Given the description of an element on the screen output the (x, y) to click on. 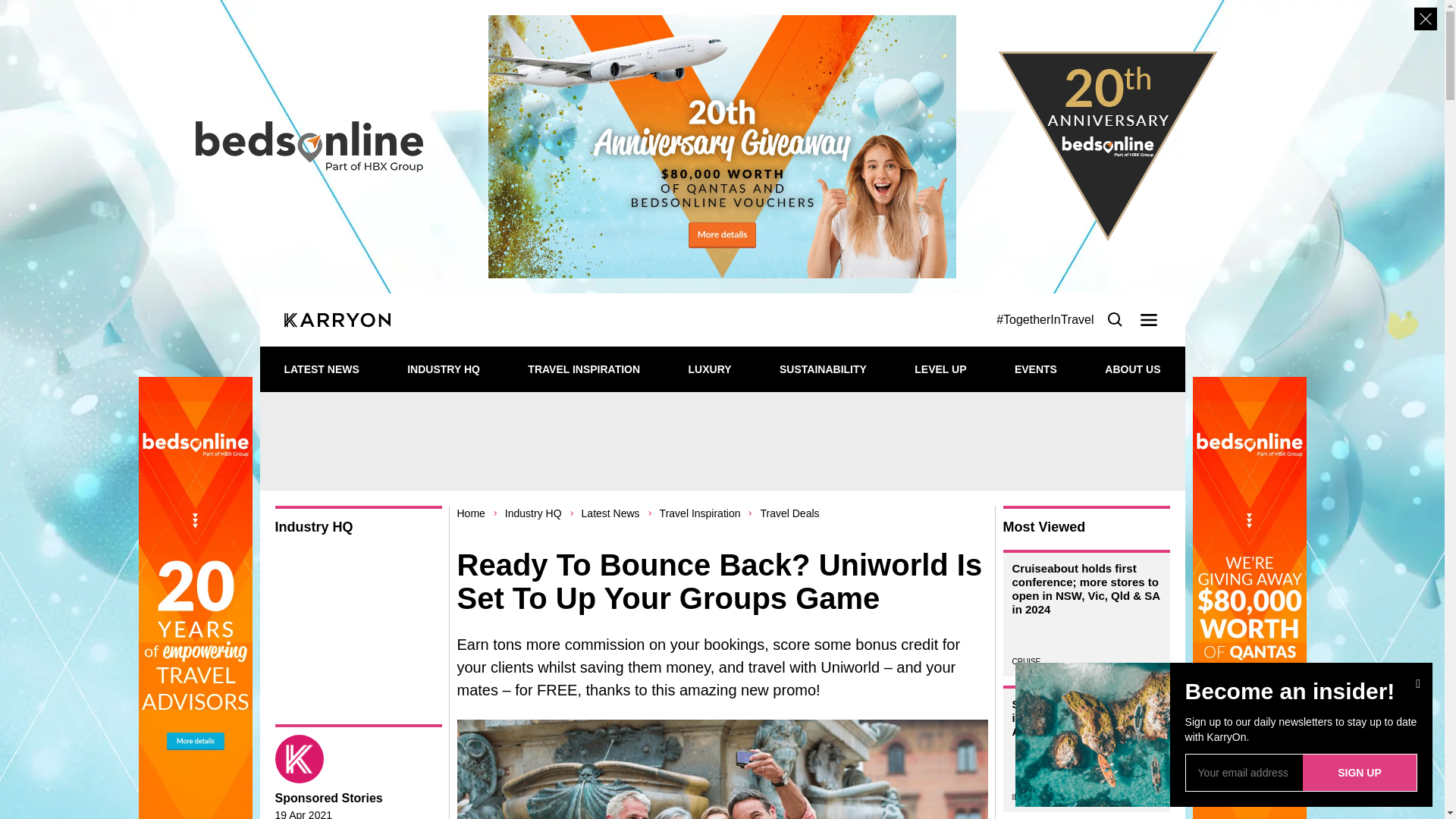
KarryOn (627, 319)
EVENTS (1035, 369)
LATEST NEWS (320, 369)
Common Ads (722, 441)
SIGN UP (1359, 772)
Search (1114, 320)
TRAVEL INSPIRATION (583, 369)
Menu (1147, 319)
Industry HQ (533, 512)
Home (470, 512)
INDUSTRY HQ (443, 369)
LUXURY (710, 369)
ABOUT US (1132, 369)
SUSTAINABILITY (822, 369)
Latest News (610, 512)
